Given the description of an element on the screen output the (x, y) to click on. 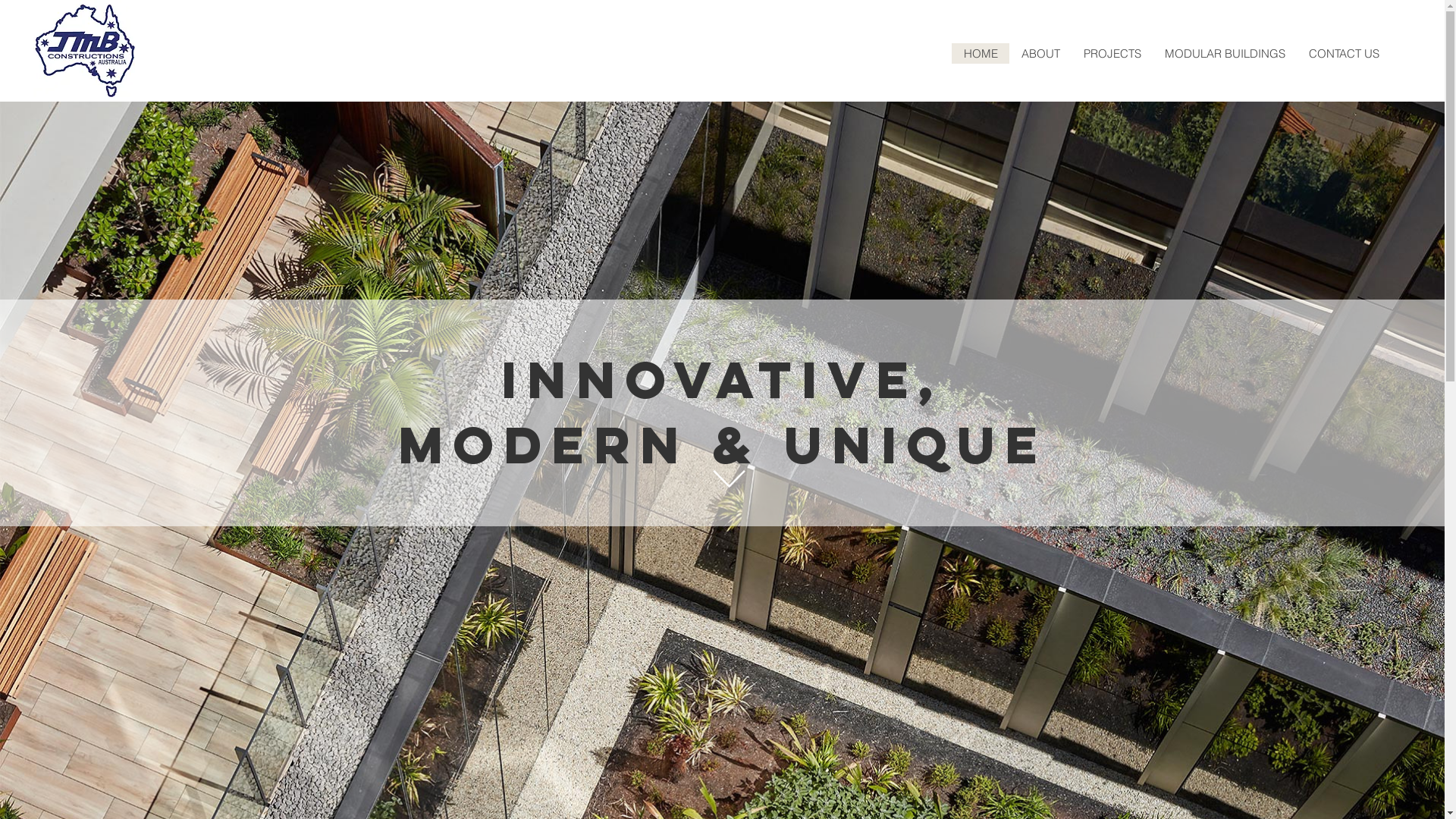
CONTACT US Element type: text (1343, 53)
TWIPLA (Visitor Analytics) Element type: hover (458, 224)
MODULAR BUILDINGS Element type: text (1224, 53)
ABOUT Element type: text (1040, 53)
PROJECTS Element type: text (1111, 53)
HOME Element type: text (980, 53)
